Given the description of an element on the screen output the (x, y) to click on. 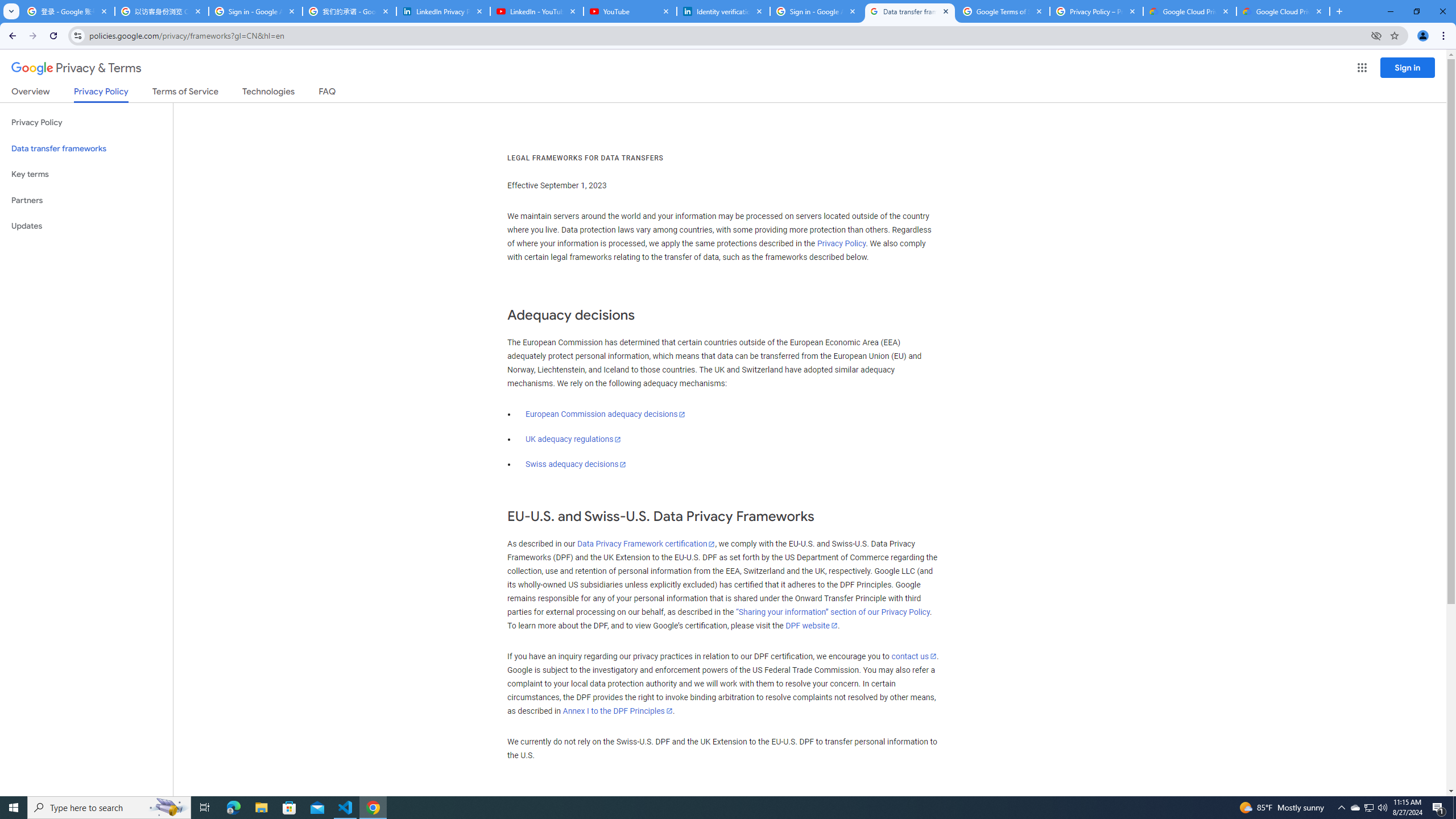
Terms of Service (184, 93)
Data Privacy Framework certification (645, 543)
Key terms (86, 174)
